Given the description of an element on the screen output the (x, y) to click on. 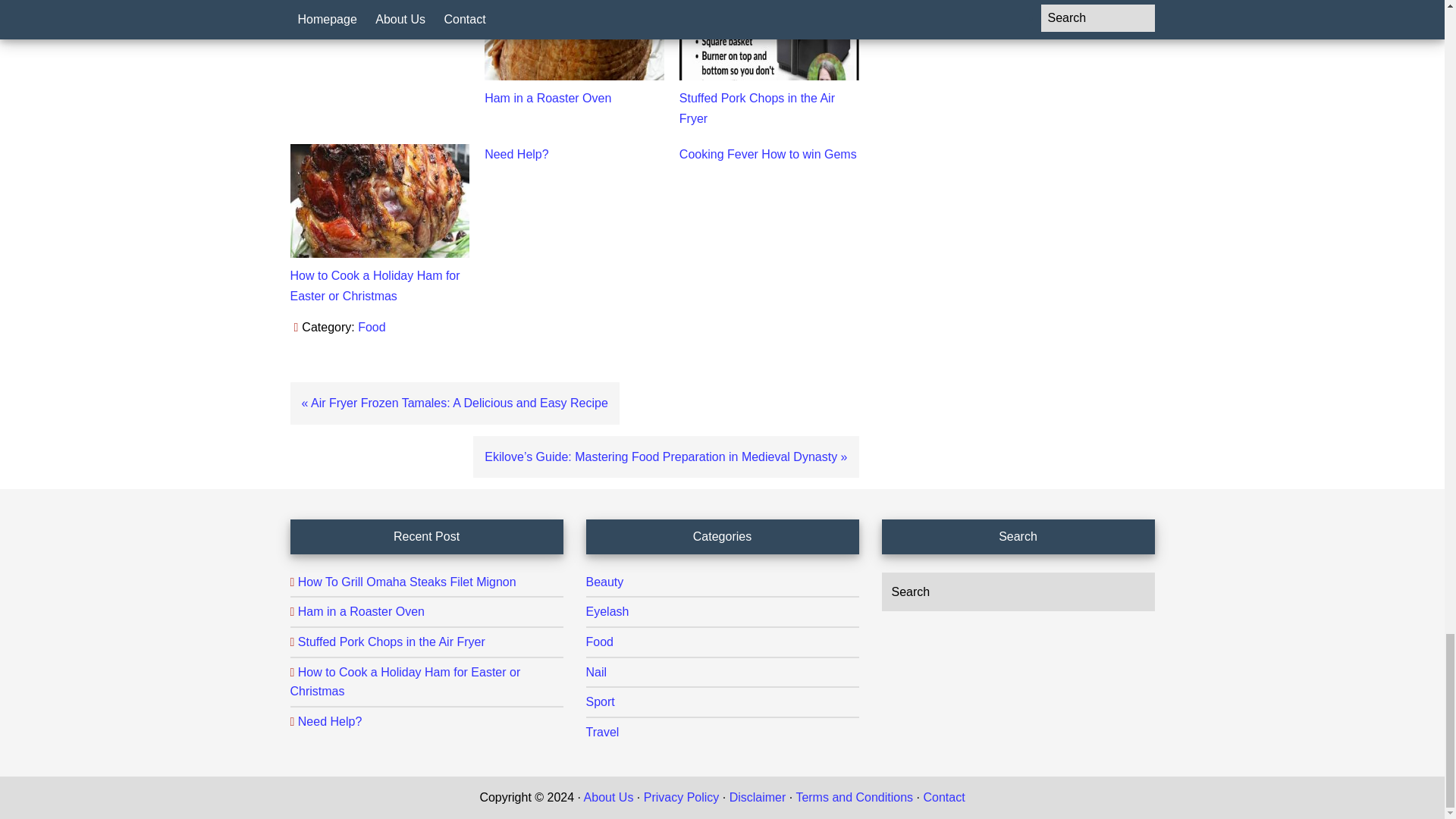
Stuffed Pork Chops in the Air Fryer (756, 108)
Food (371, 327)
Ham in a Roaster Oven (547, 97)
How To Grill Omaha Steaks Filet Mignon (376, 2)
Cooking Fever How to win Gems (768, 154)
Need Help? (516, 154)
How to Cook a Holiday Ham for Easter or Christmas (374, 285)
